Given the description of an element on the screen output the (x, y) to click on. 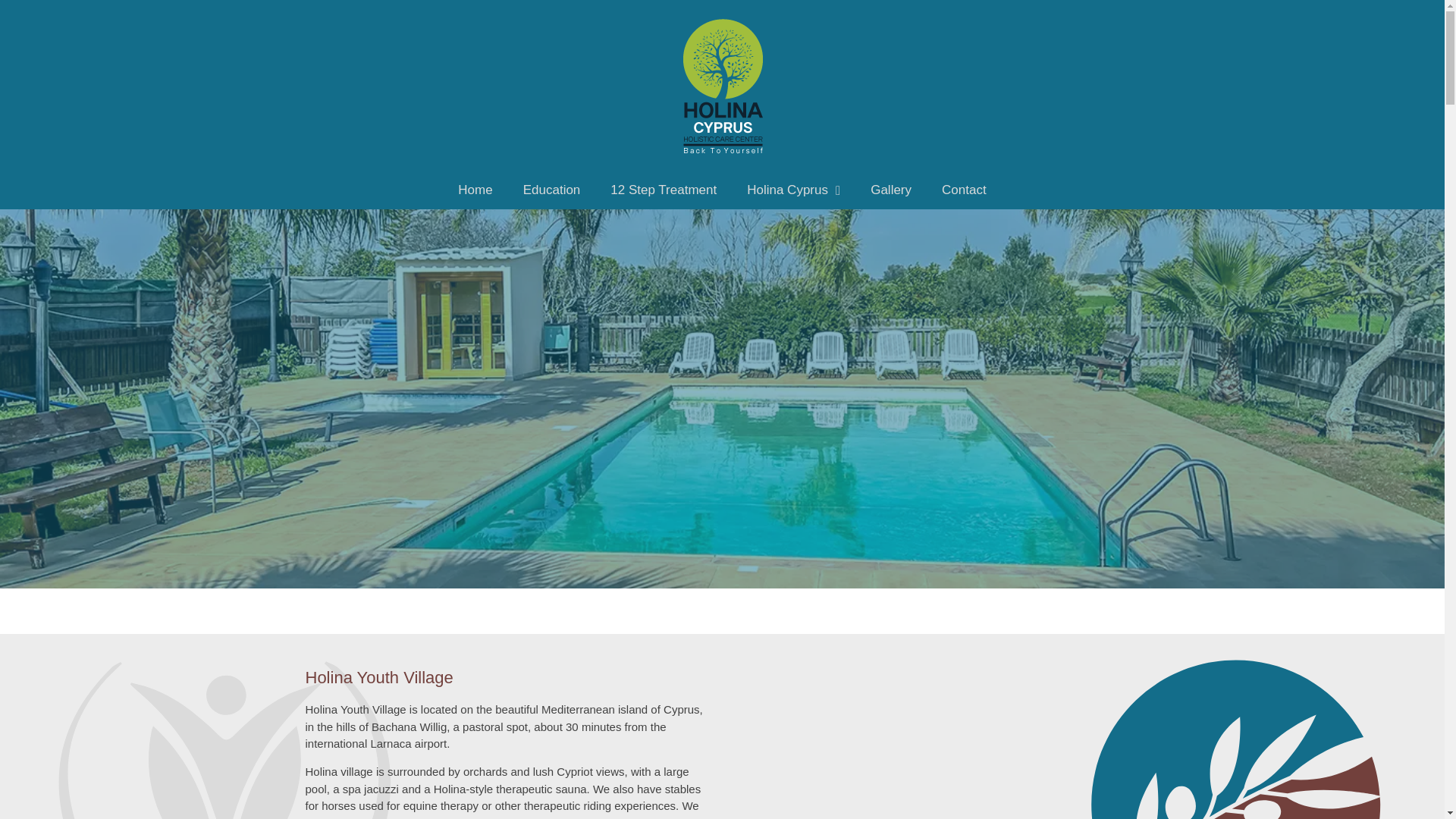
Holina Cyprus (794, 190)
12 Step Treatment (663, 190)
Education (551, 190)
Home (474, 190)
Gallery (891, 190)
Contact (963, 190)
